Given the description of an element on the screen output the (x, y) to click on. 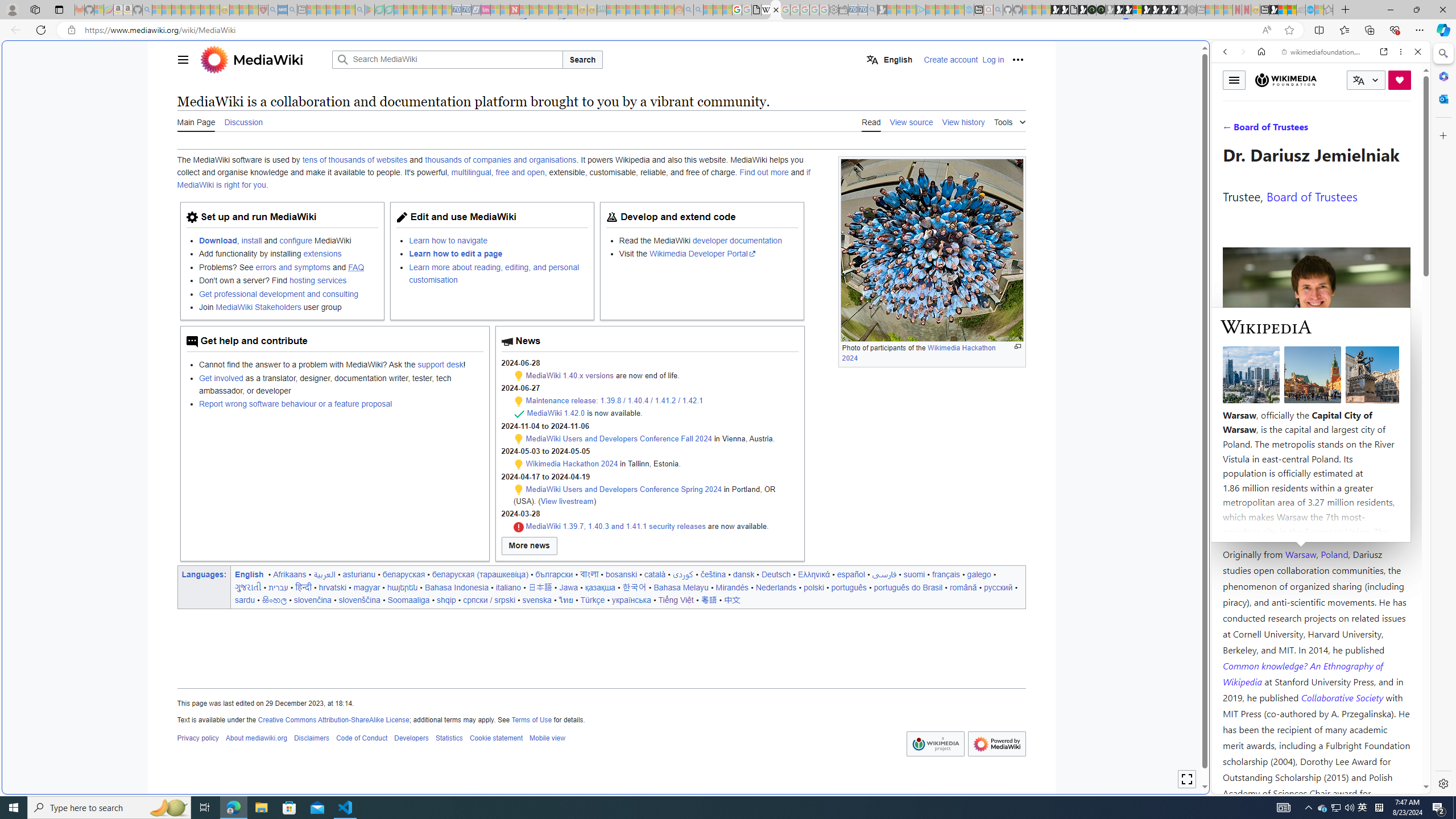
Join MediaWiki Stakeholders user group (288, 306)
errors and symptoms (292, 266)
About mediawiki.org (255, 738)
Don't own a server? Find hosting services (288, 280)
Donate now (1399, 80)
Maintenance update (518, 489)
Developers (411, 738)
